Given the description of an element on the screen output the (x, y) to click on. 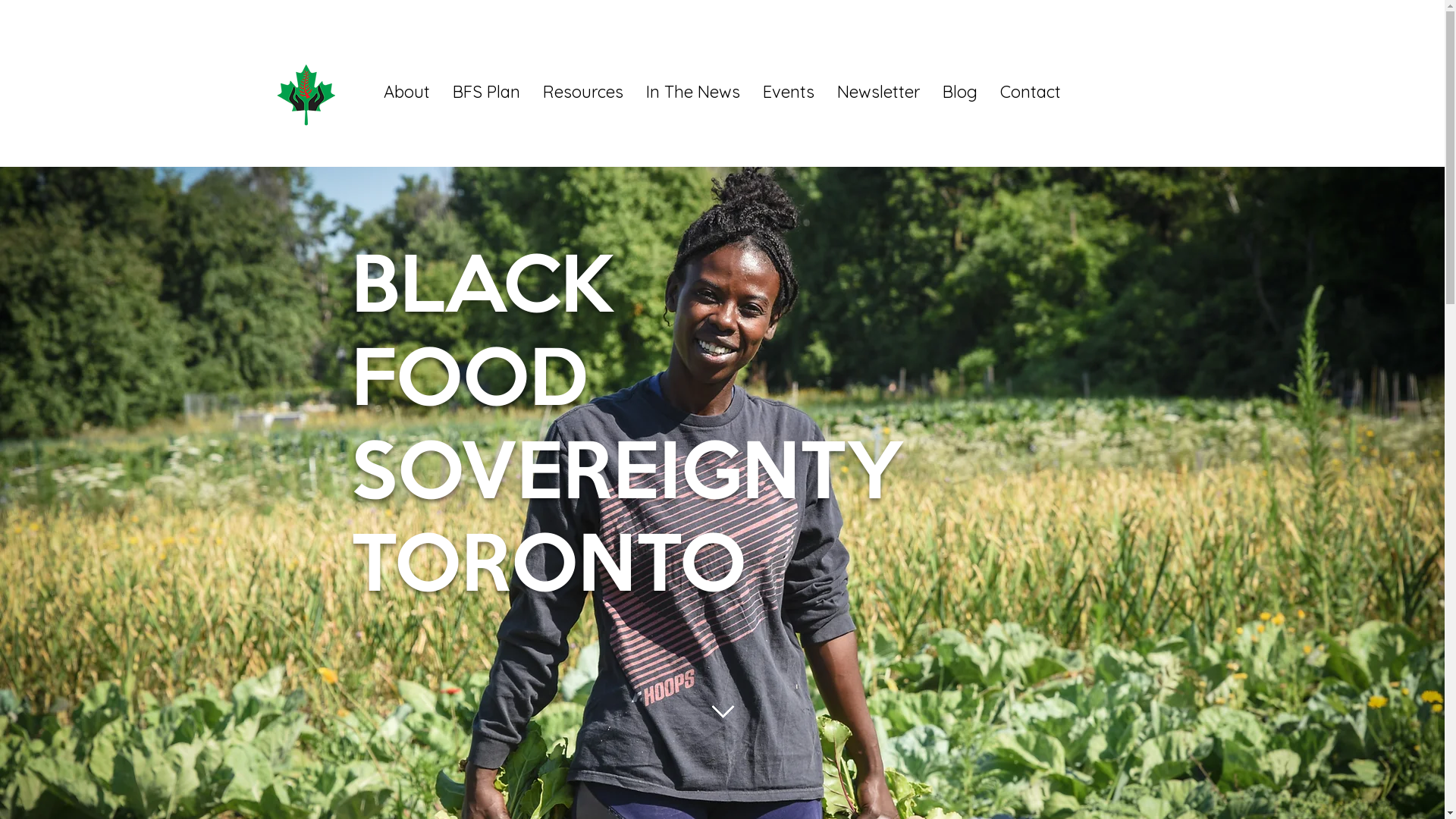
Blog Element type: text (959, 91)
Newsletter Element type: text (878, 91)
BFS Plan Element type: text (486, 91)
Contact Element type: text (1030, 91)
In The News Element type: text (692, 91)
About Element type: text (406, 91)
Resources Element type: text (582, 91)
